Given the description of an element on the screen output the (x, y) to click on. 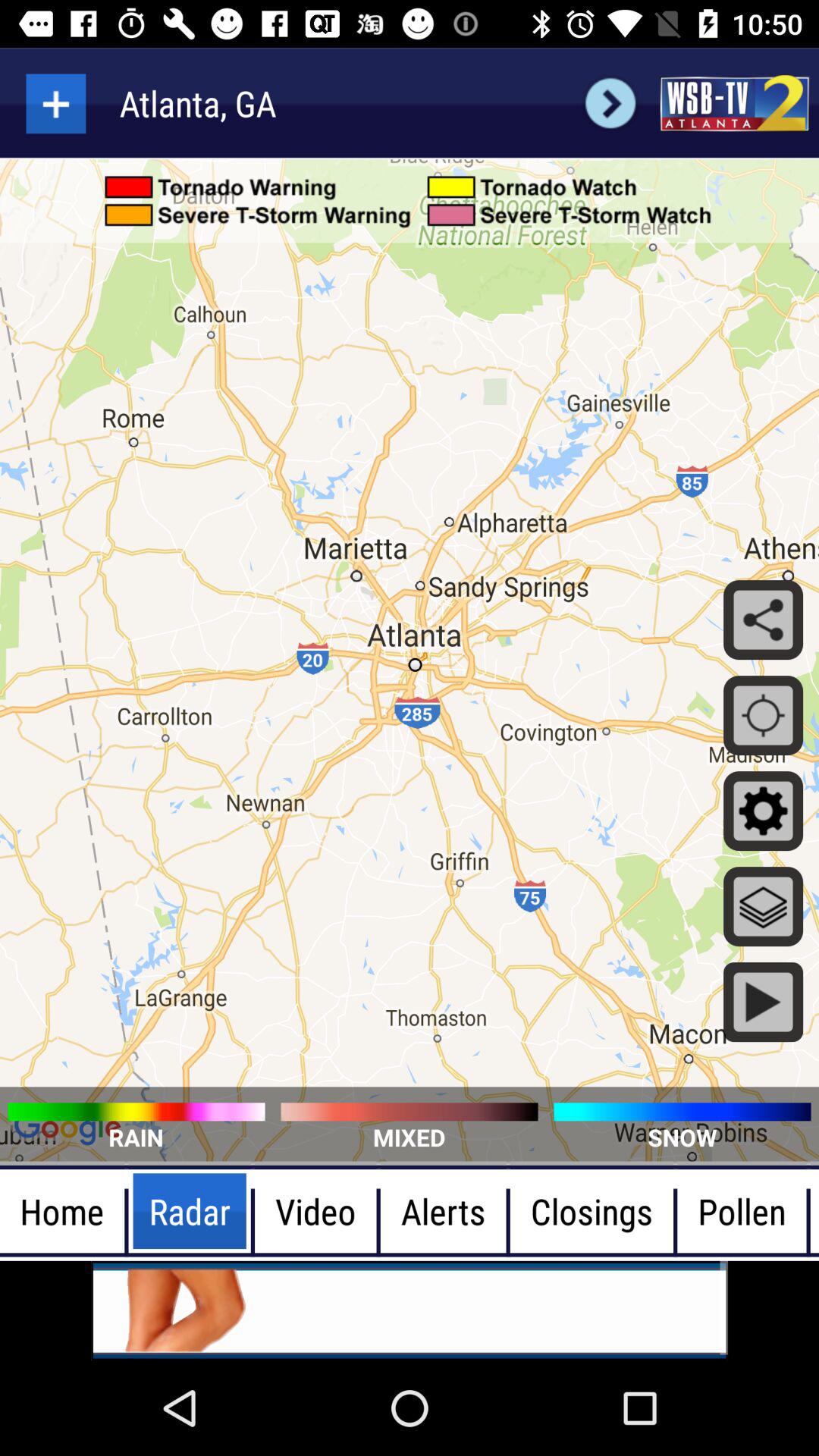
go home (734, 103)
